Given the description of an element on the screen output the (x, y) to click on. 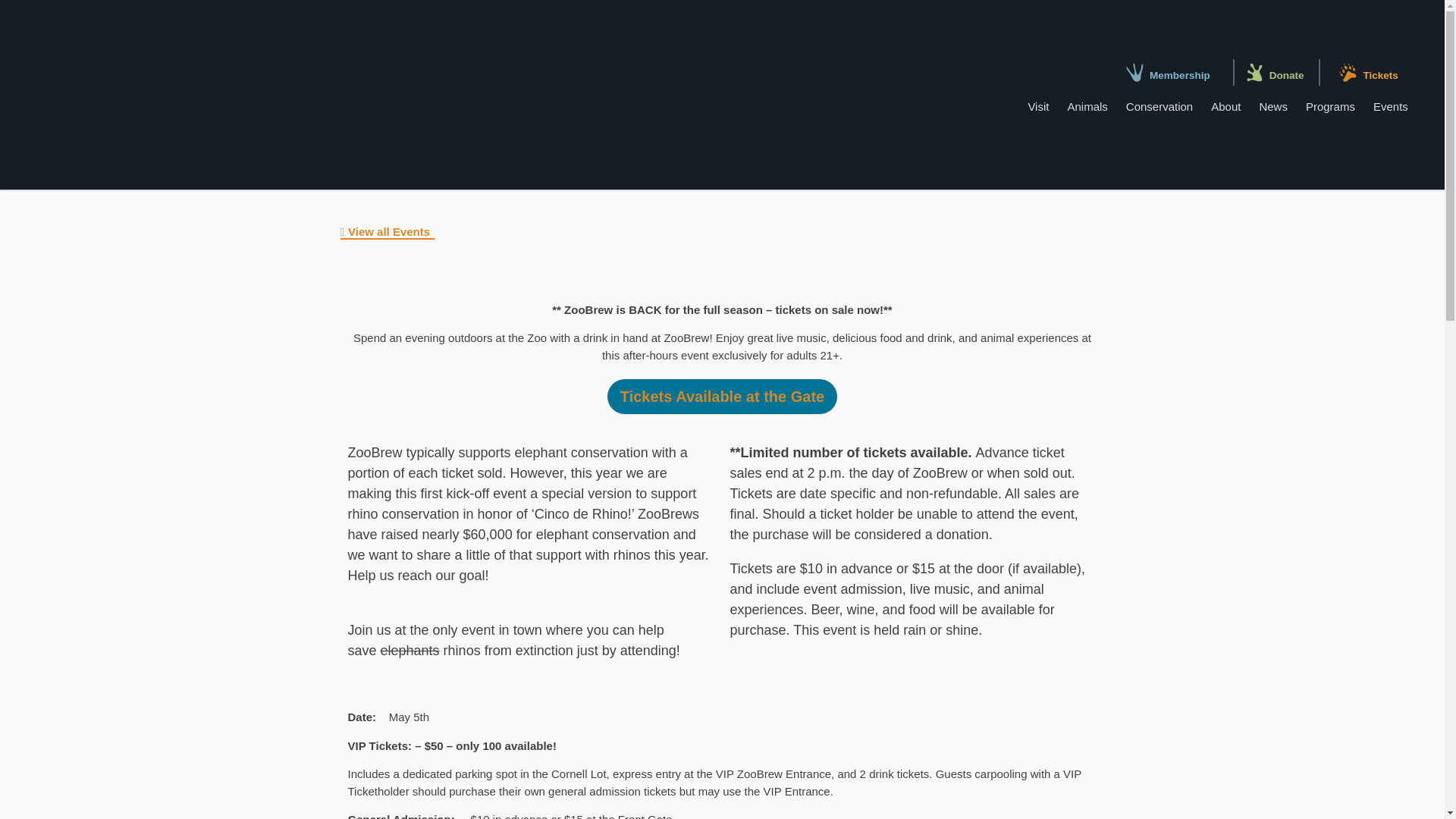
Membership (1179, 75)
Donate (1286, 75)
Animals (1087, 106)
Programs (1330, 106)
Events (1390, 106)
Tickets (1379, 75)
About (1225, 106)
News (1273, 106)
Conservation (1159, 106)
